Given the description of an element on the screen output the (x, y) to click on. 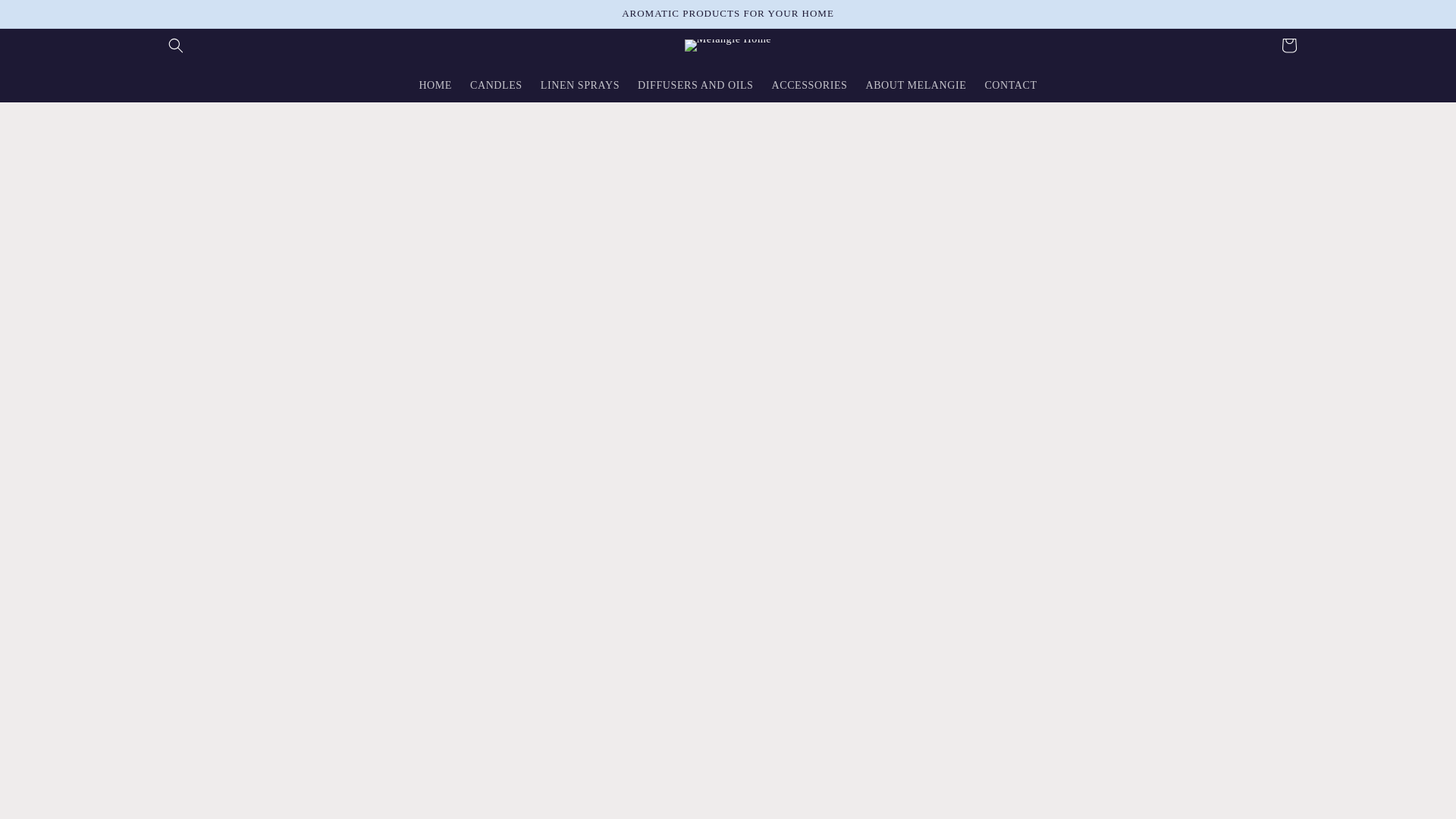
Skip to content (48, 19)
CONTACT (1010, 85)
ABOUT MELANGIE (915, 85)
Cart (1289, 45)
ACCESSORIES (808, 85)
HOME (435, 85)
LINEN SPRAYS (579, 85)
CANDLES (496, 85)
DIFFUSERS AND OILS (694, 85)
